Given the description of an element on the screen output the (x, y) to click on. 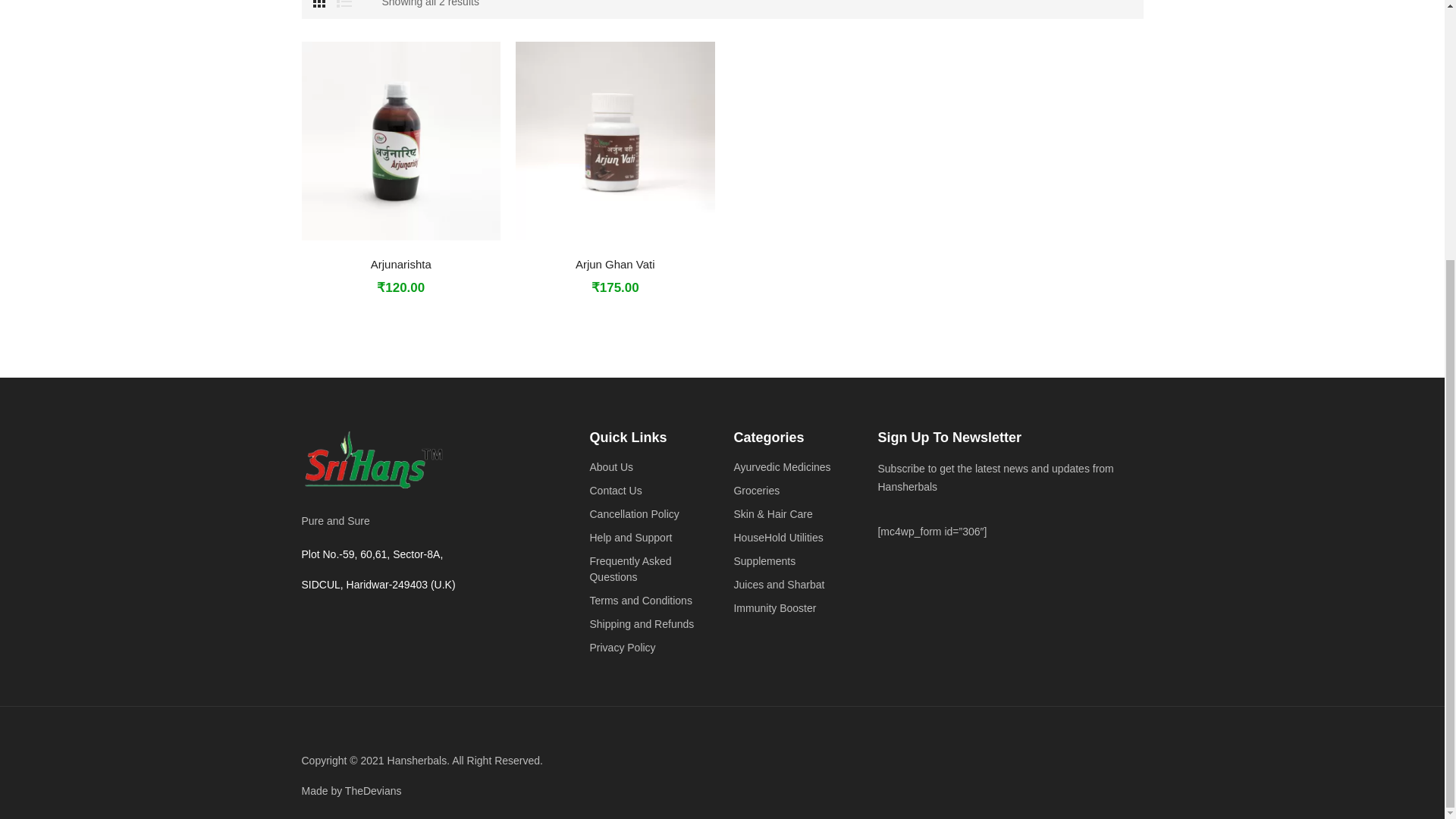
Grid (318, 3)
List (344, 3)
HansHerbals (373, 460)
